Given the description of an element on the screen output the (x, y) to click on. 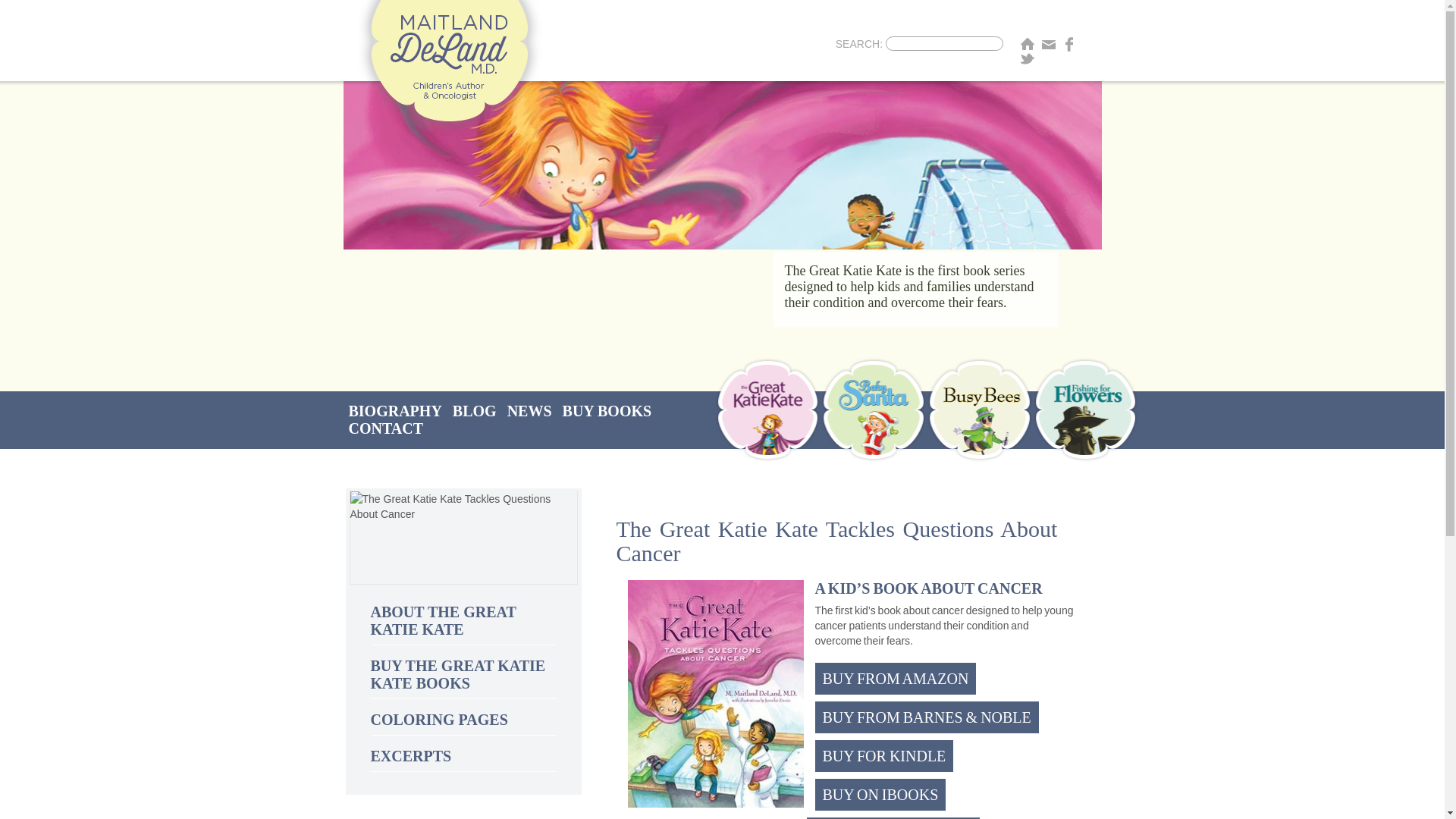
BUY ON IBOOKS (878, 794)
COLORING PAGES (437, 719)
BUY FROM AMAZON (894, 678)
Busy Bees (979, 409)
BUY THE GREAT KATIE KATE BOOKS (456, 674)
email (1048, 43)
BUY FOR KINDLE (883, 756)
BUY BOOKS (607, 410)
EXCERPTS (410, 755)
BLOG (474, 410)
